Given the description of an element on the screen output the (x, y) to click on. 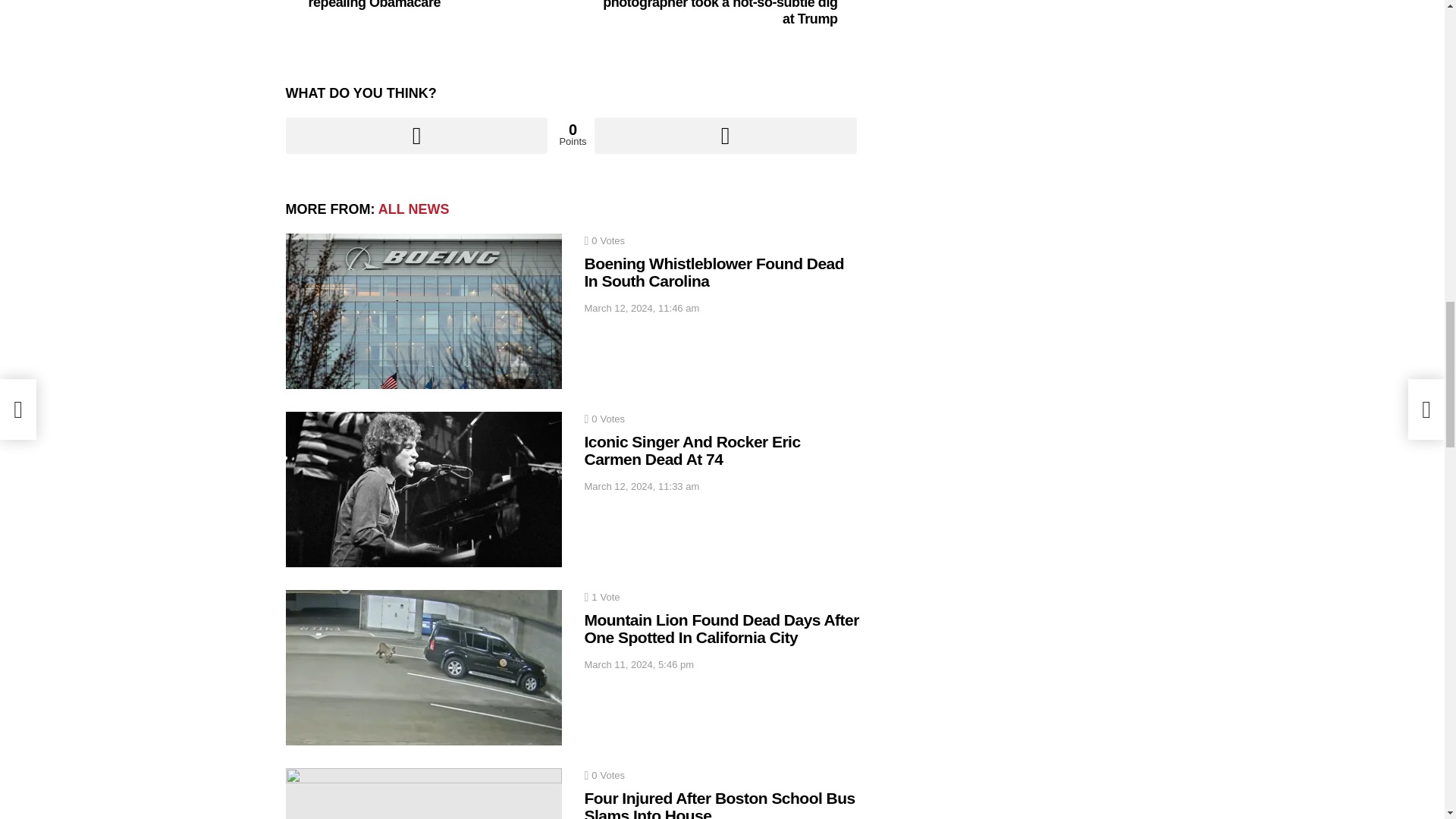
Iconic Singer And Rocker Eric Carmen Dead At 74 (422, 489)
Downvote (725, 135)
Upvote (416, 135)
Downvote (725, 135)
ALL NEWS (413, 209)
Boening Whistleblower Found Dead In South Carolina (422, 311)
Upvote (416, 135)
Four Injured After Boston School Bus Slams Into House (422, 793)
Four Injured After Boston School Bus Slams Into House (718, 804)
